Given the description of an element on the screen output the (x, y) to click on. 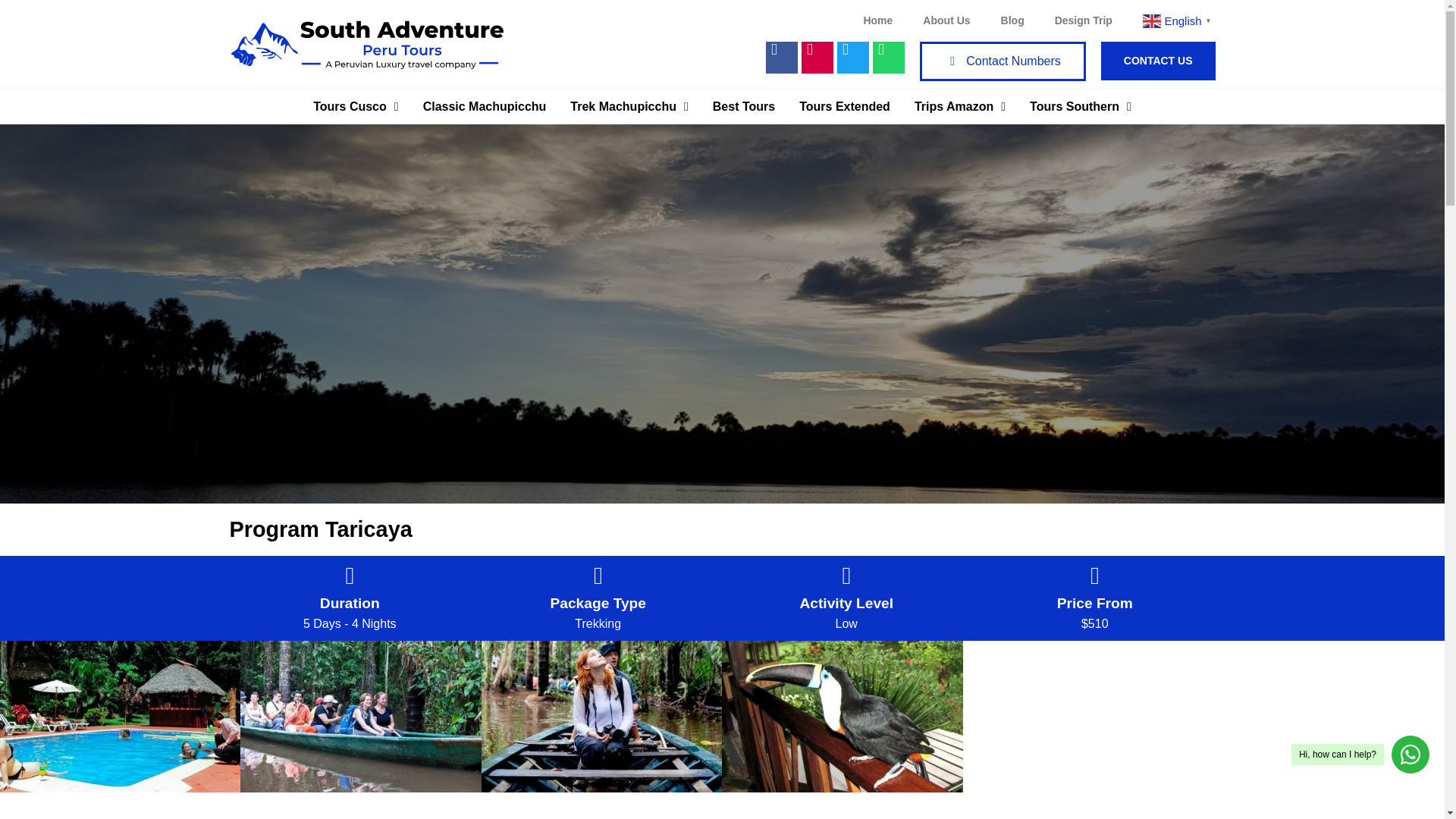
Home (877, 20)
Design Trip (1082, 20)
Blog (1012, 20)
About Us (946, 20)
